Given the description of an element on the screen output the (x, y) to click on. 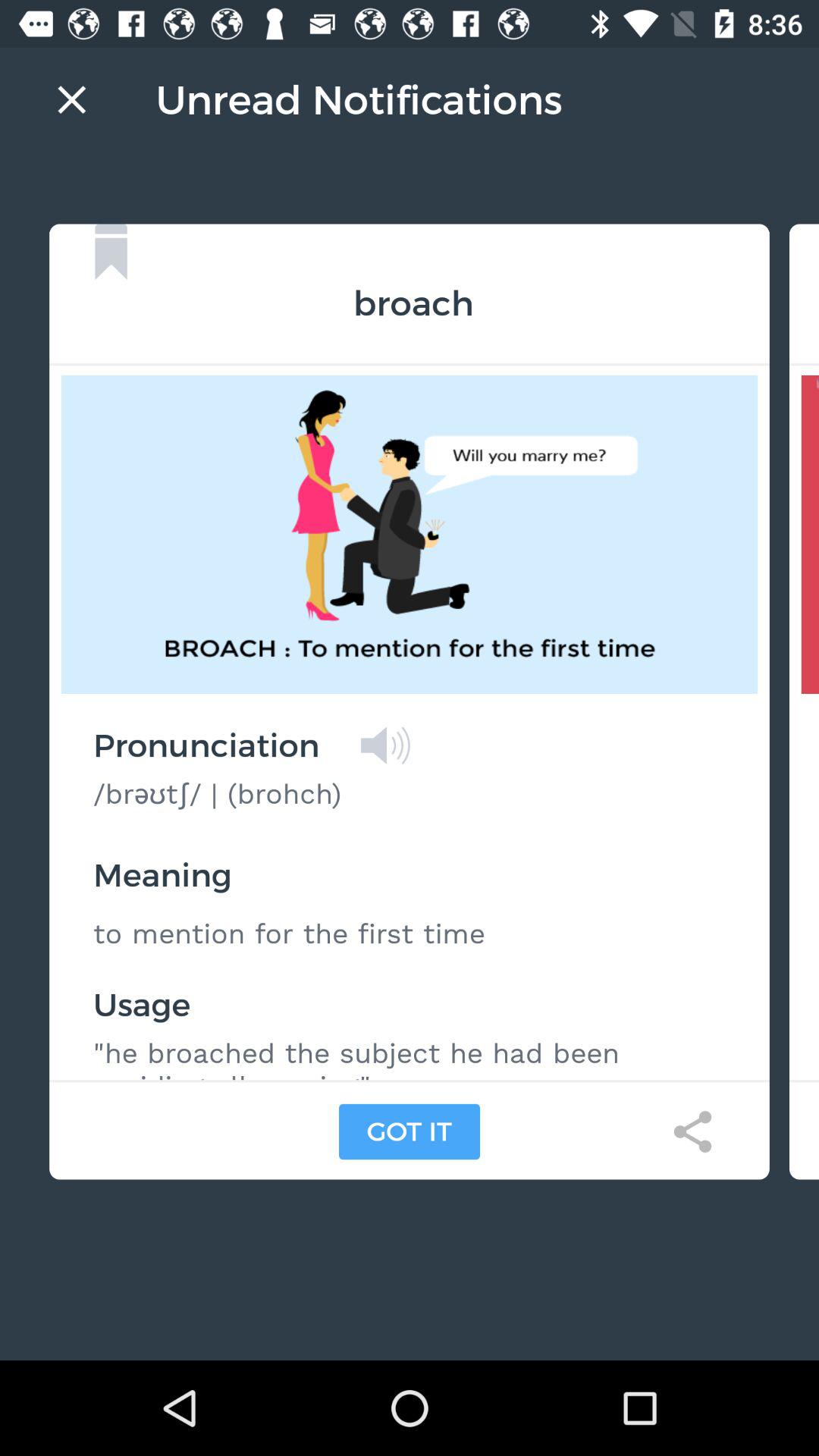
go to cancel (71, 99)
